Given the description of an element on the screen output the (x, y) to click on. 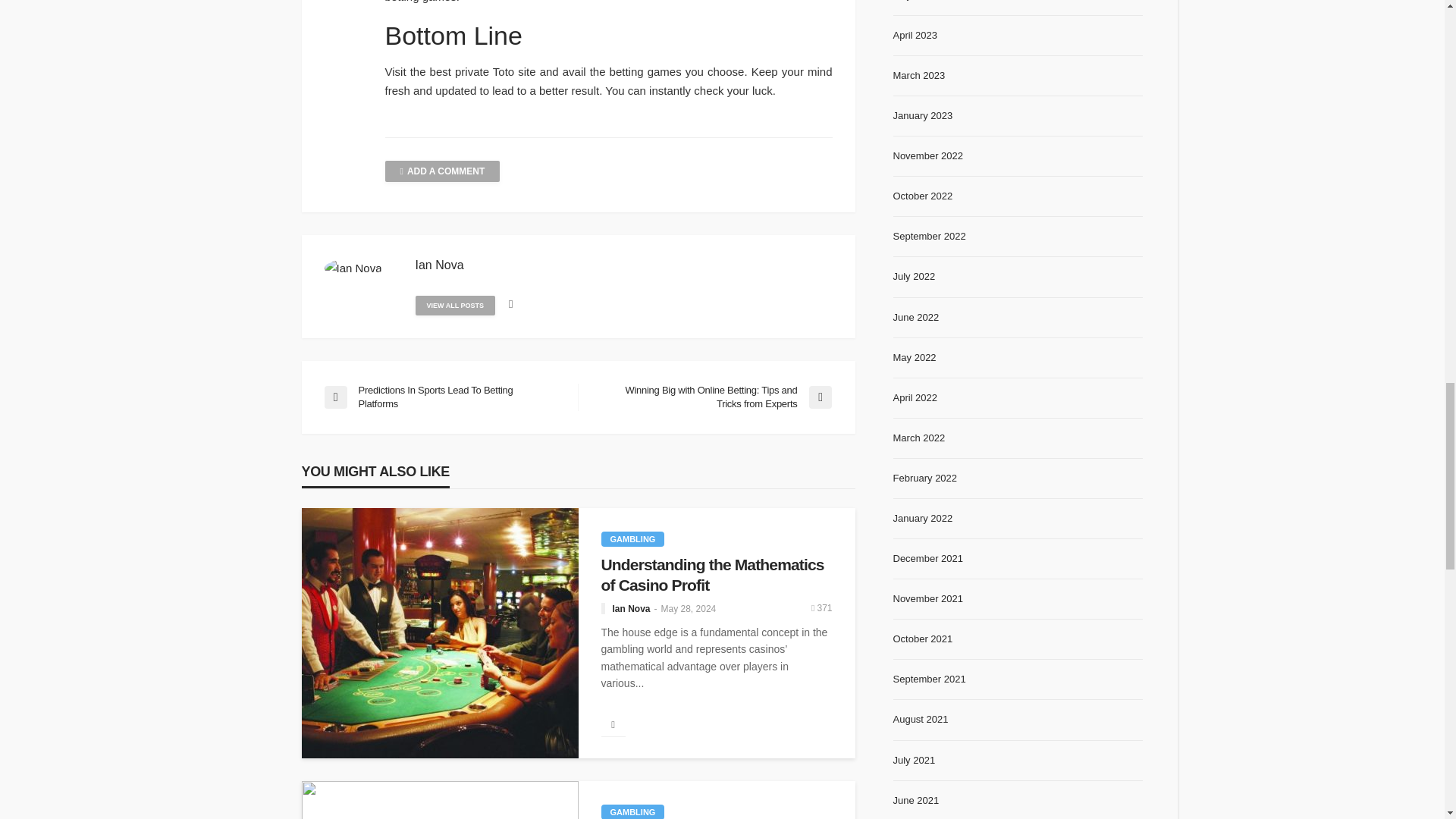
Ian Nova (439, 264)
Predictions In Sports Lead To Betting Platforms (443, 397)
Gambling (631, 811)
Understanding the Mathematics of Casino Profit (715, 575)
Understanding the Mathematics of Casino Profit (715, 575)
Predictions In Sports Lead To Betting Platforms (443, 397)
GAMBLING (631, 539)
VIEW ALL POSTS (455, 305)
ADD A COMMENT (442, 170)
